Given the description of an element on the screen output the (x, y) to click on. 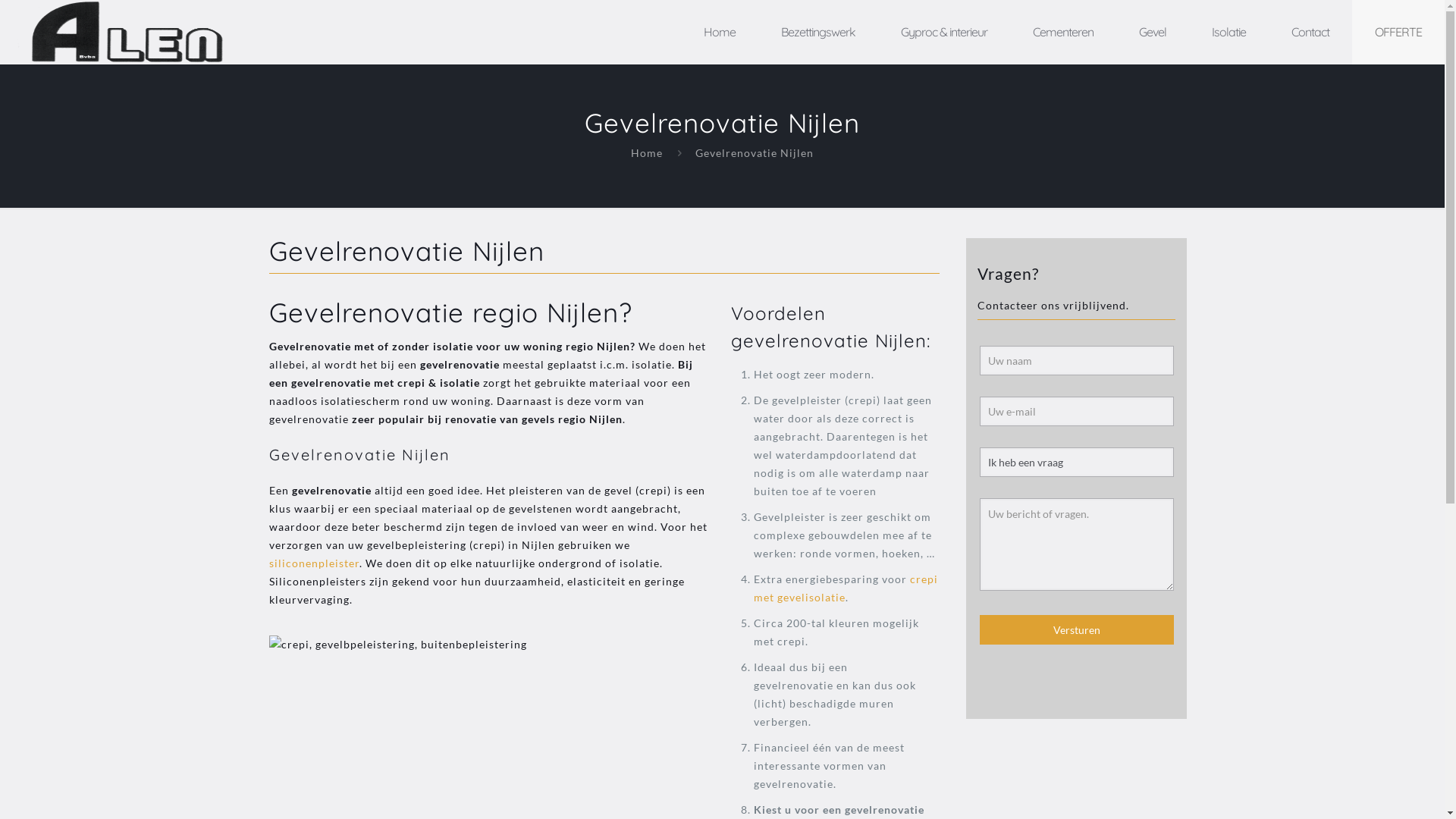
Bezettingswerk Element type: text (818, 32)
OFFERTE Element type: text (1398, 32)
Versturen Element type: text (1076, 629)
Home Element type: text (646, 152)
Alen bvba Element type: hover (128, 32)
Gyproc & interieur Element type: text (944, 32)
crepi met gevelisolatie Element type: text (845, 587)
Isolatie Element type: text (1228, 32)
Cementeren Element type: text (1063, 32)
Gevel Element type: text (1152, 32)
siliconenpleister Element type: text (314, 562)
Home Element type: text (719, 32)
Contact Element type: text (1310, 32)
